Given the description of an element on the screen output the (x, y) to click on. 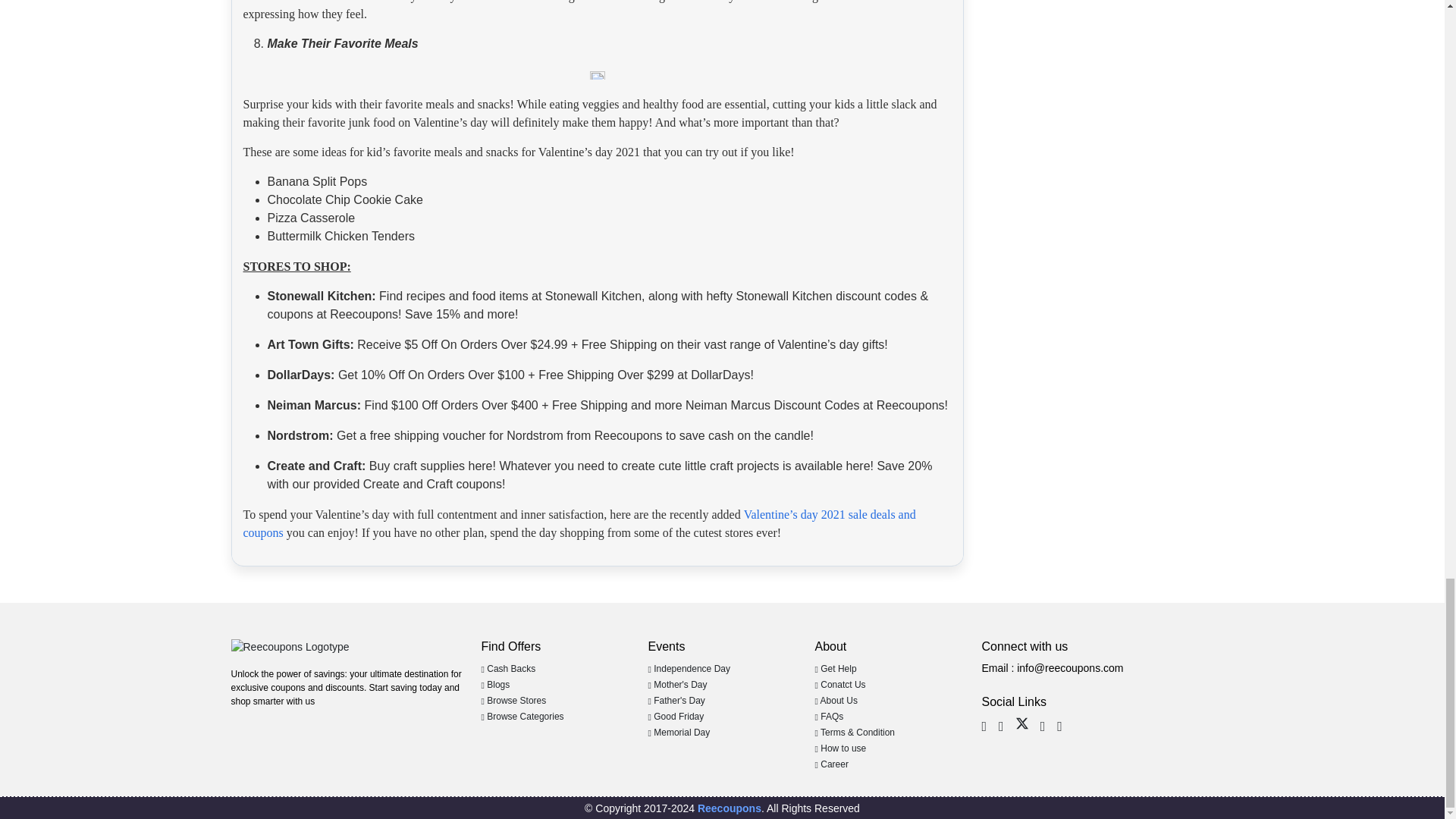
Father's Day (675, 700)
Independence Day (688, 668)
Memorial Day (678, 732)
Mother's Day (676, 684)
Good Friday (675, 716)
